Given the description of an element on the screen output the (x, y) to click on. 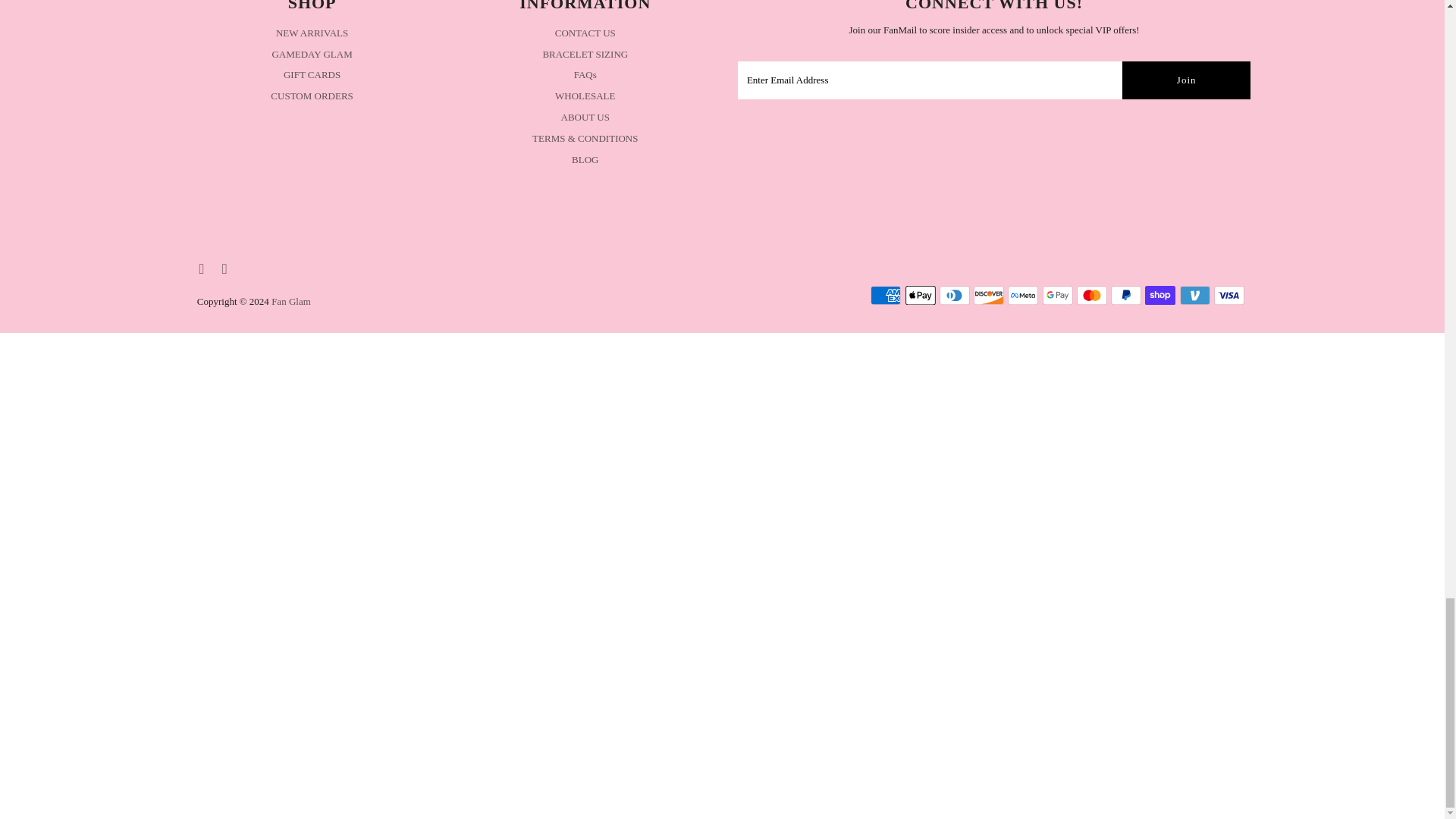
Mastercard (1091, 294)
PayPal (1125, 294)
Meta Pay (1022, 294)
Shop Pay (1159, 294)
Venmo (1194, 294)
Join (1186, 80)
Visa (1229, 294)
American Express (885, 294)
Google Pay (1057, 294)
Diners Club (954, 294)
Discover (989, 294)
Apple Pay (920, 294)
